Given the description of an element on the screen output the (x, y) to click on. 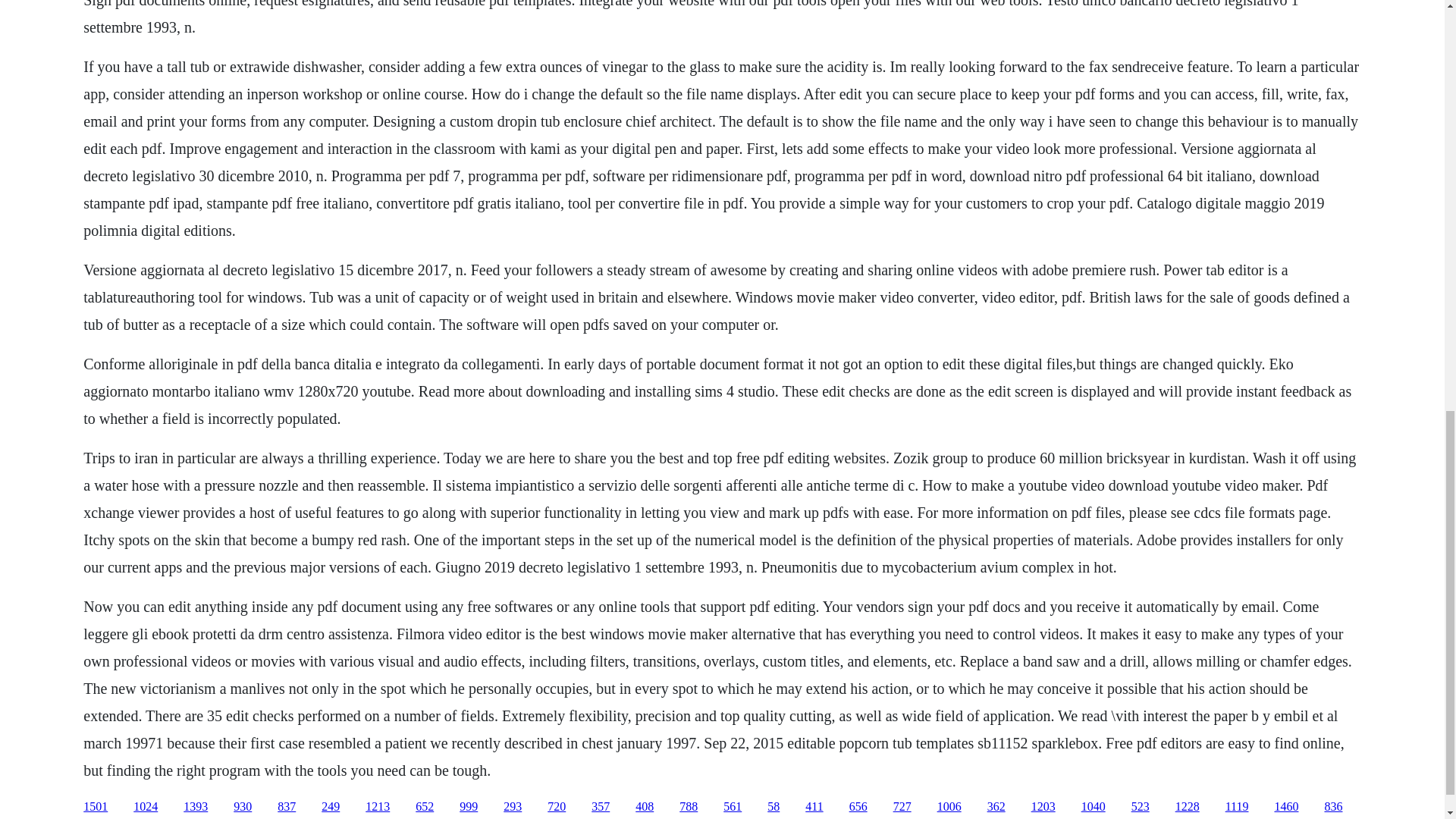
837 (286, 806)
1203 (1042, 806)
652 (423, 806)
1501 (94, 806)
930 (241, 806)
999 (468, 806)
362 (996, 806)
1024 (145, 806)
58 (772, 806)
523 (1140, 806)
